Given the description of an element on the screen output the (x, y) to click on. 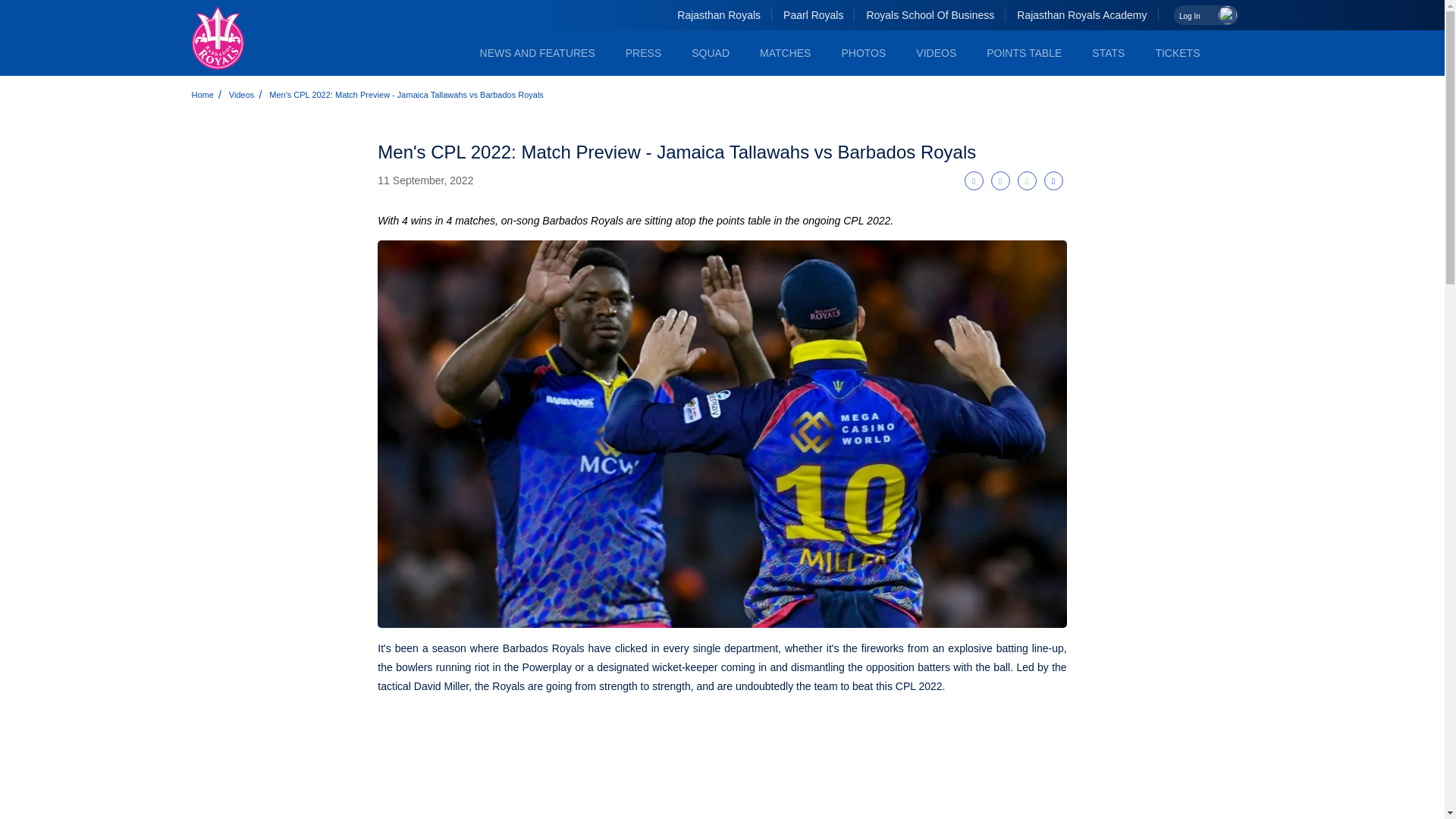
Points Table (1024, 52)
Rajasthan Royals Academy (1081, 15)
Videos (240, 94)
Rajasthan Royals (718, 15)
POINTS TABLE (1024, 52)
Press (643, 52)
NEWS AND FEATURES (537, 52)
SQUAD (710, 52)
VIDEOS (935, 52)
Squad (710, 52)
Share on Twitter (1000, 180)
Videos (935, 52)
Rajasthan Royals (718, 15)
Photos (863, 52)
Paarl Royals (813, 15)
